Given the description of an element on the screen output the (x, y) to click on. 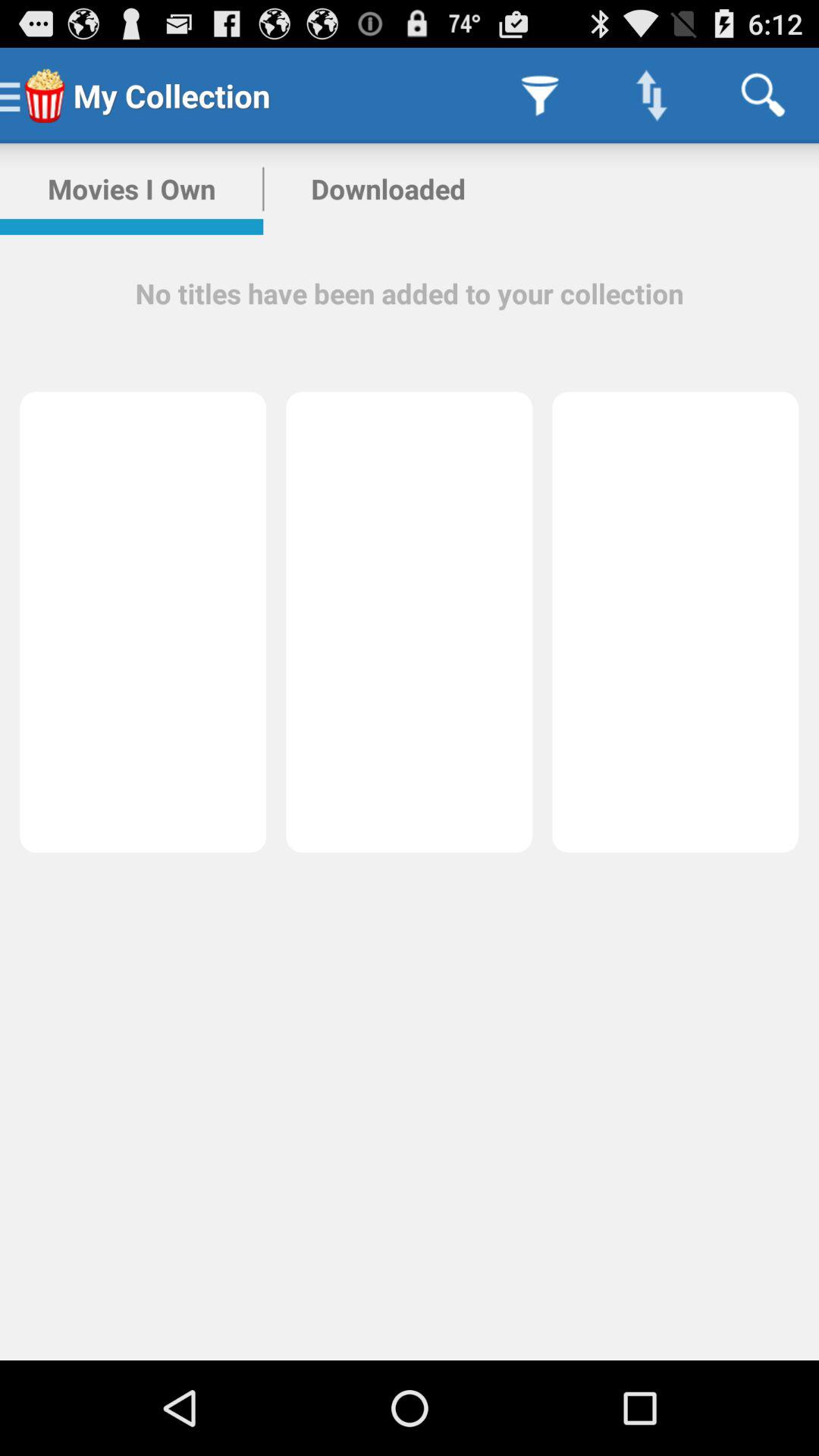
select the icon above the no titles have (131, 188)
